Given the description of an element on the screen output the (x, y) to click on. 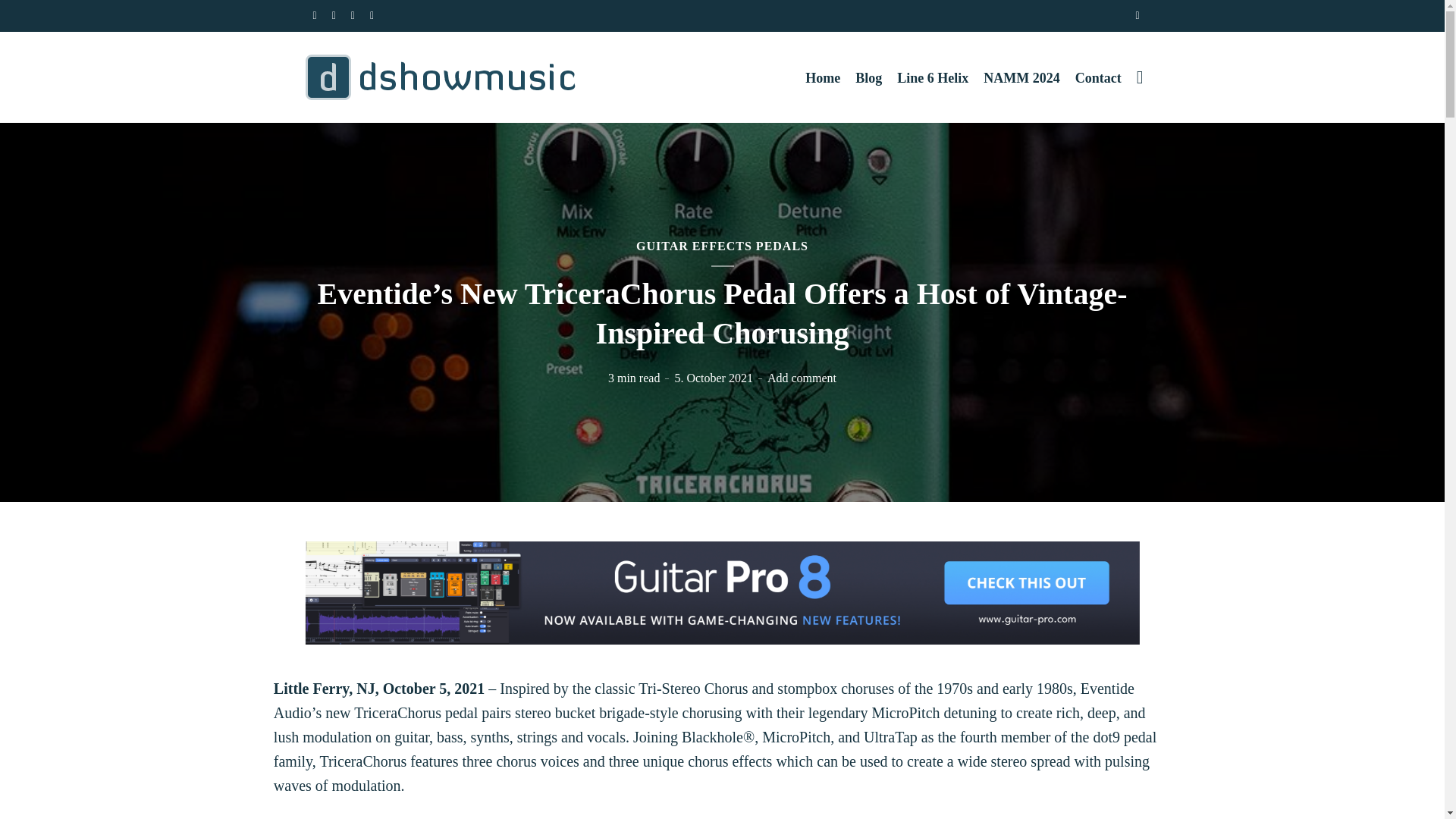
NAMM 2024 (1021, 77)
Guitar Pro 8 - Buy now (721, 591)
Add comment (801, 377)
GUITAR EFFECTS PEDALS (722, 246)
Home (822, 77)
Add comment (801, 377)
Contact (1098, 77)
Line 6 Helix (932, 77)
